Given the description of an element on the screen output the (x, y) to click on. 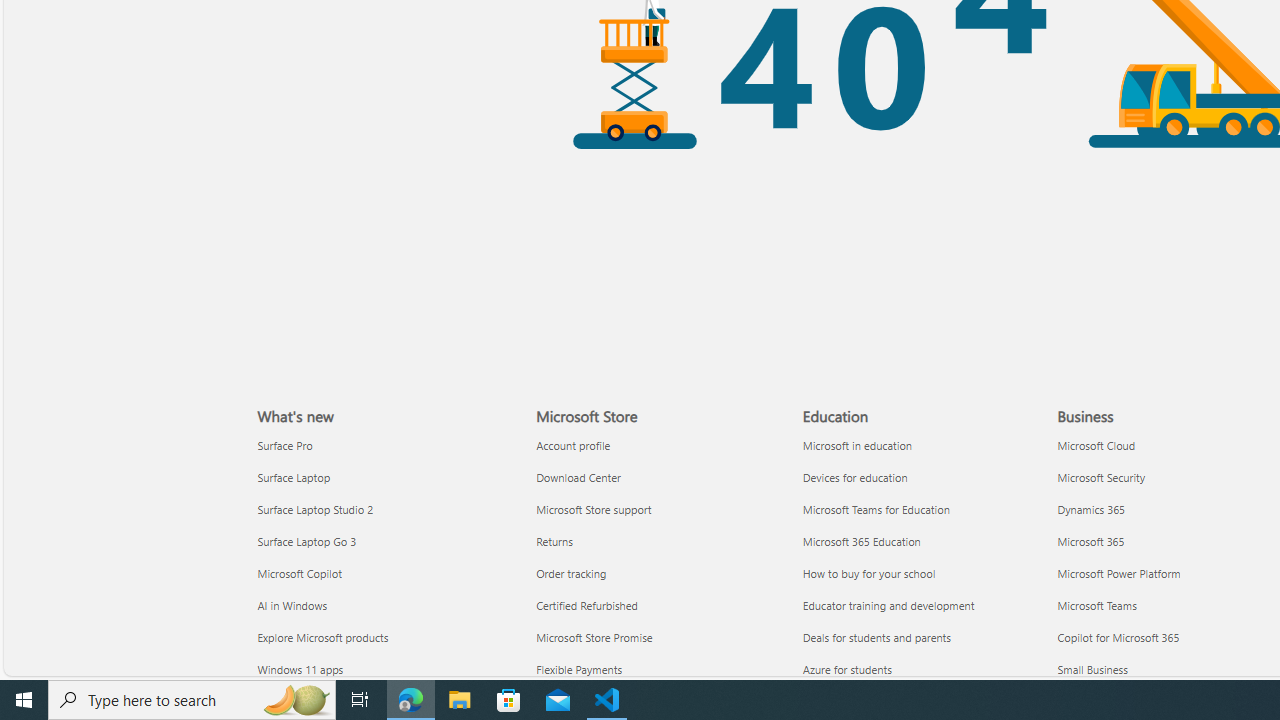
Order tracking (657, 573)
Microsoft Teams Business (1096, 604)
Devices for education (923, 476)
Returns Microsoft Store (554, 540)
Flexible Payments (657, 669)
Returns (657, 541)
Account profile (657, 445)
Educator training and development (923, 605)
Microsoft in education (923, 445)
Microsoft Store Promise (657, 636)
Account profile Microsoft Store (573, 444)
Small Business Business (1092, 668)
Azure for students (923, 669)
Microsoft in education Education (857, 444)
Microsoft 365 Education Education (861, 540)
